Given the description of an element on the screen output the (x, y) to click on. 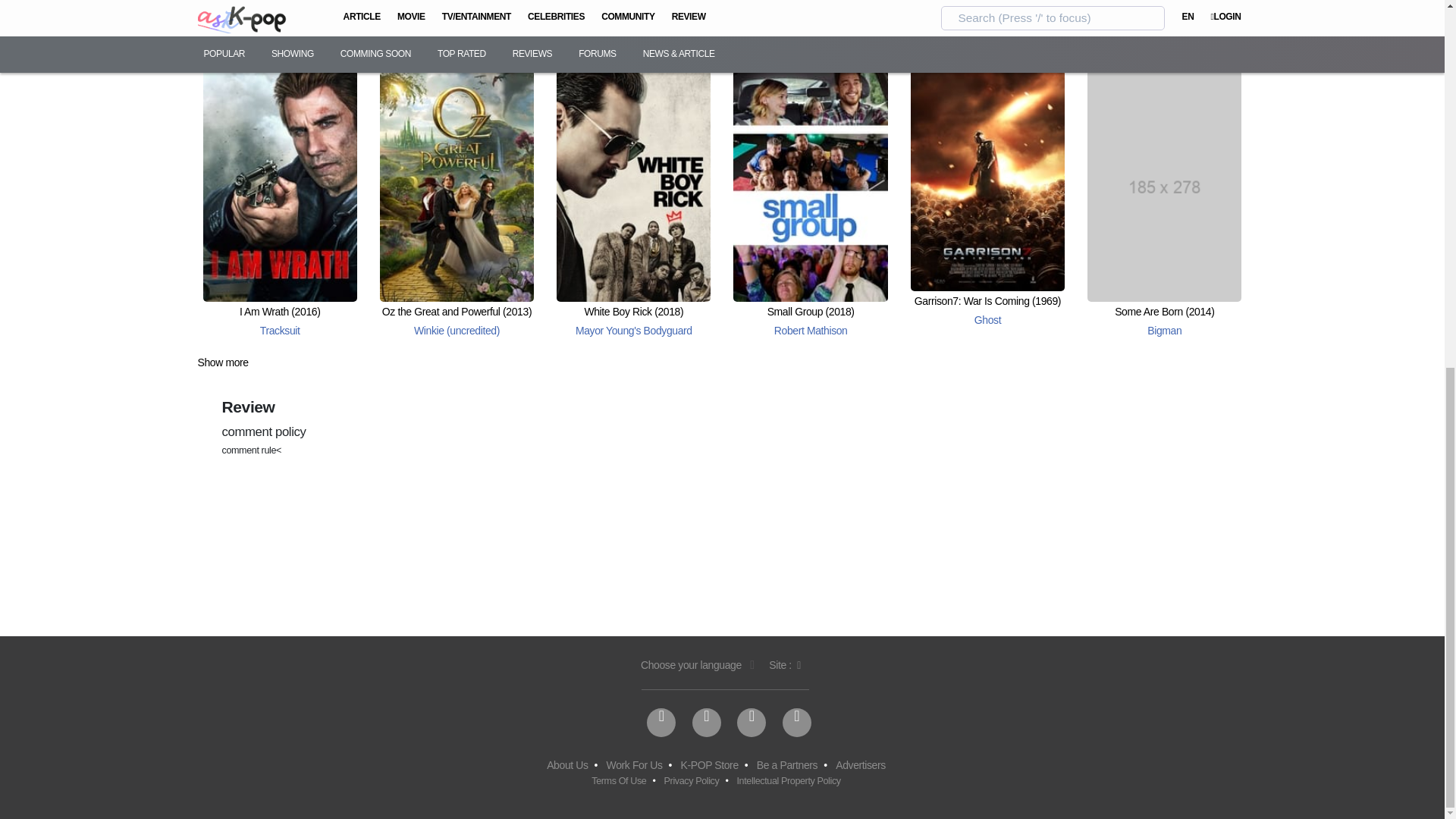
Follow Askkpop on Instagram (750, 722)
Follow Askkpop on YouTube (796, 722)
Follow Askkpop on Twitter (706, 722)
Follow Askkpop on Facebook (660, 722)
fb:comments Facebook Social Plugin (608, 536)
